Given the description of an element on the screen output the (x, y) to click on. 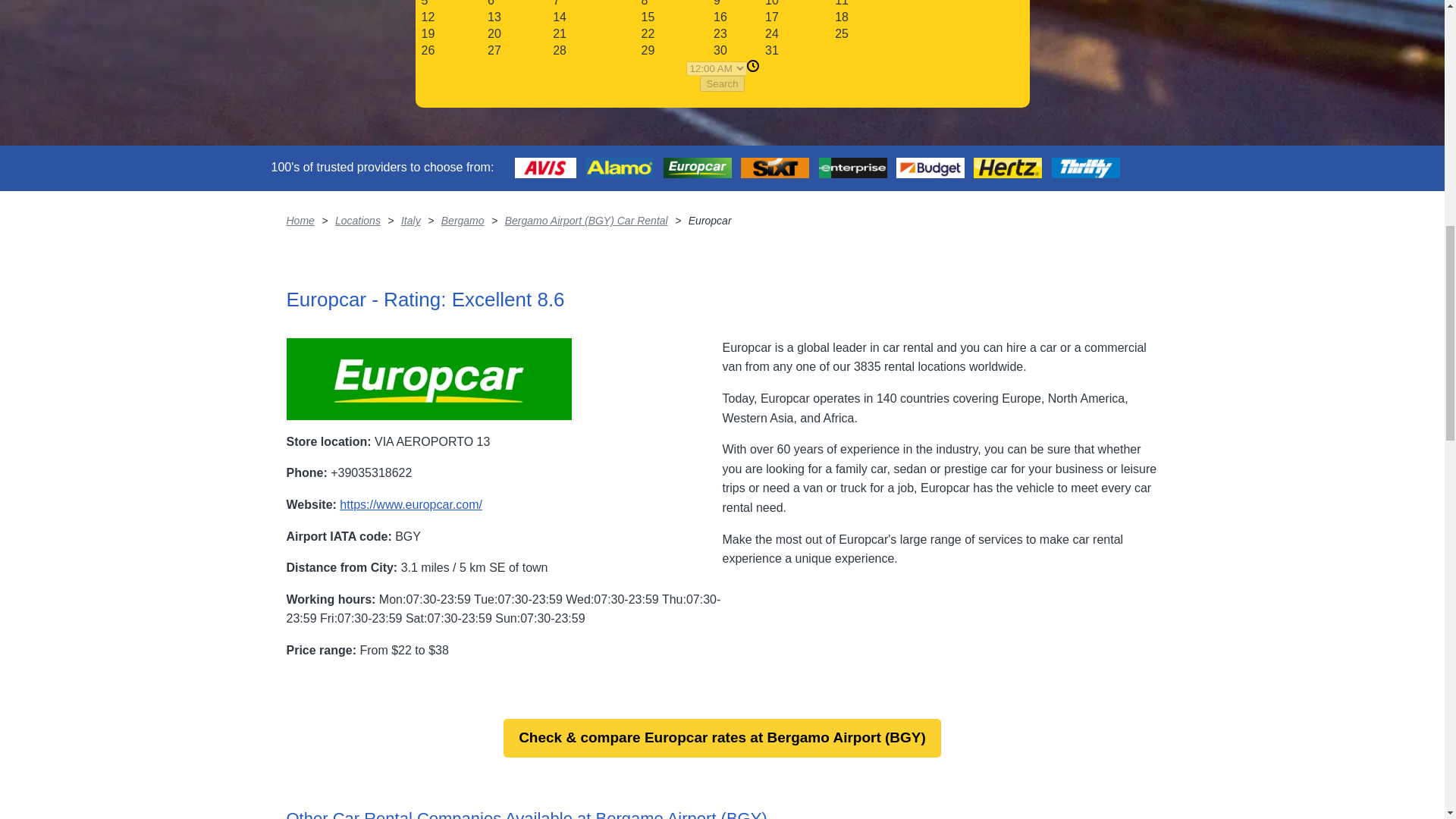
Bergamo (462, 220)
Locations (357, 220)
Home (300, 220)
Italy (410, 220)
